Given the description of an element on the screen output the (x, y) to click on. 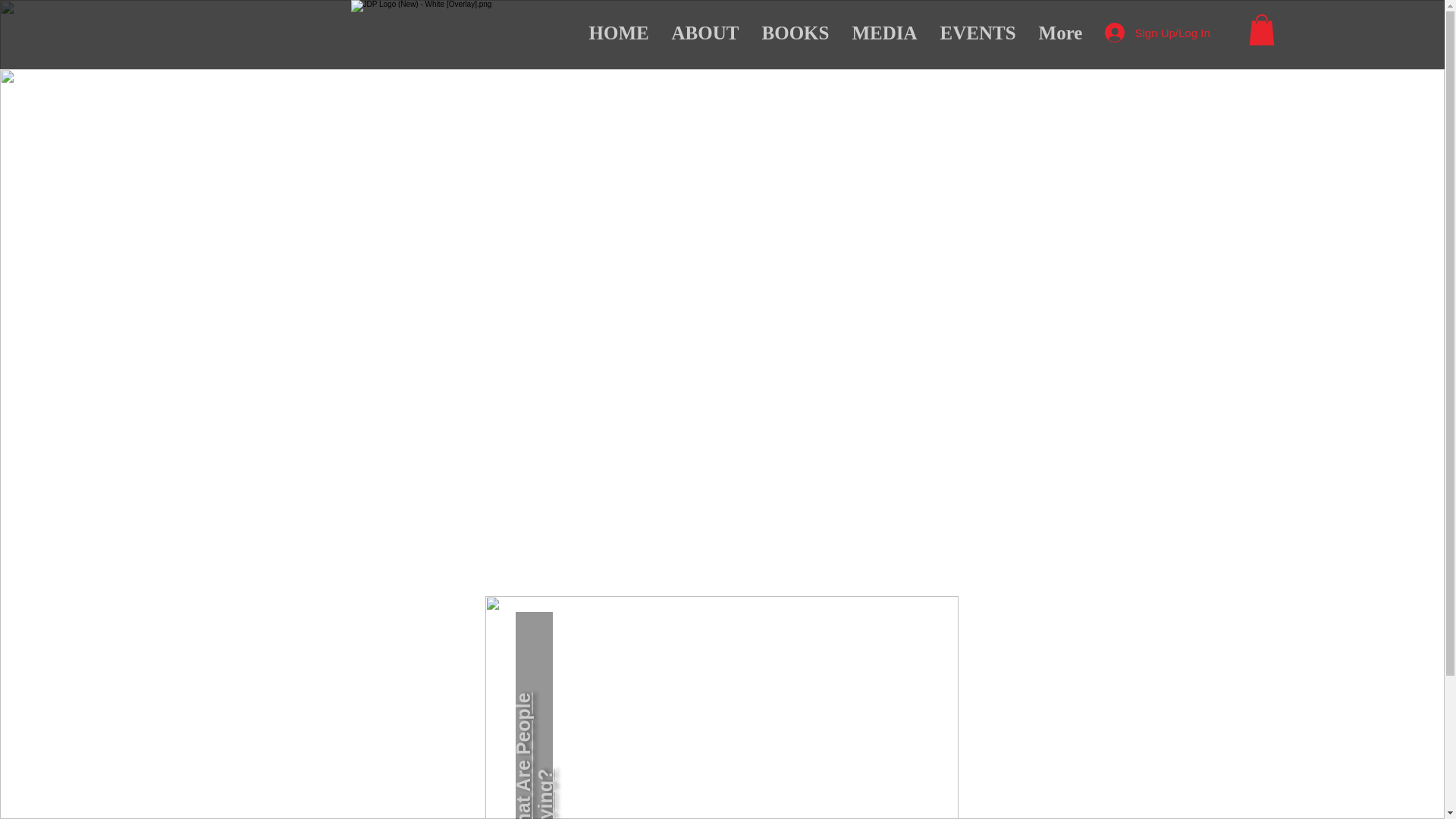
HOME (619, 33)
BOOKS (796, 33)
EVENTS (977, 33)
